Given the description of an element on the screen output the (x, y) to click on. 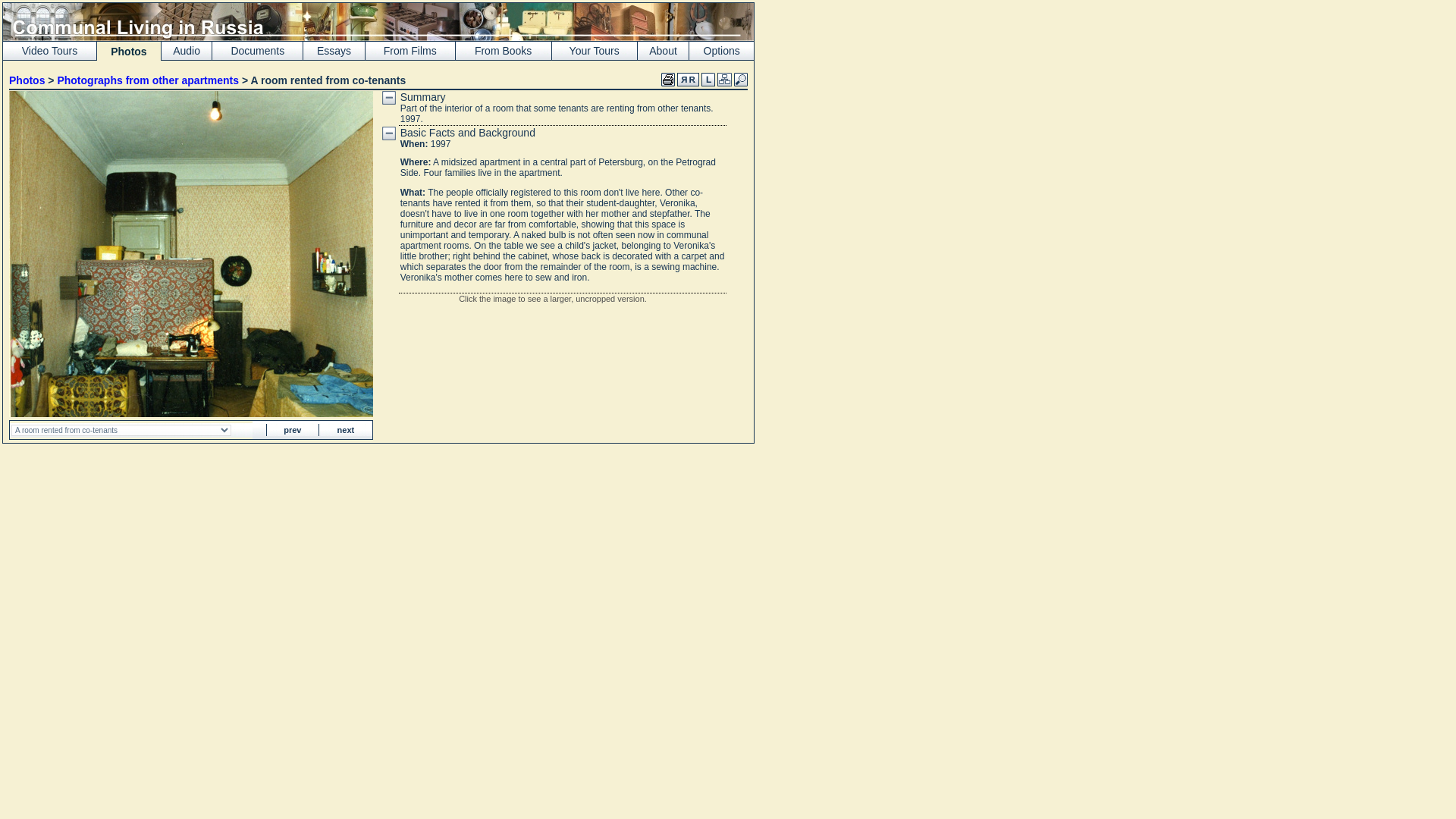
site search and alphabetical index (740, 79)
display for printing (668, 79)
Essays (333, 50)
From Films (410, 50)
bilingual text window (687, 79)
Audio (186, 50)
Options (721, 50)
From Books (502, 50)
Video Tours (49, 50)
Basic Facts and Background (467, 132)
Photos (26, 80)
site map (724, 79)
Your Tours (594, 50)
About (663, 50)
Photographs from other apartments (147, 80)
